Given the description of an element on the screen output the (x, y) to click on. 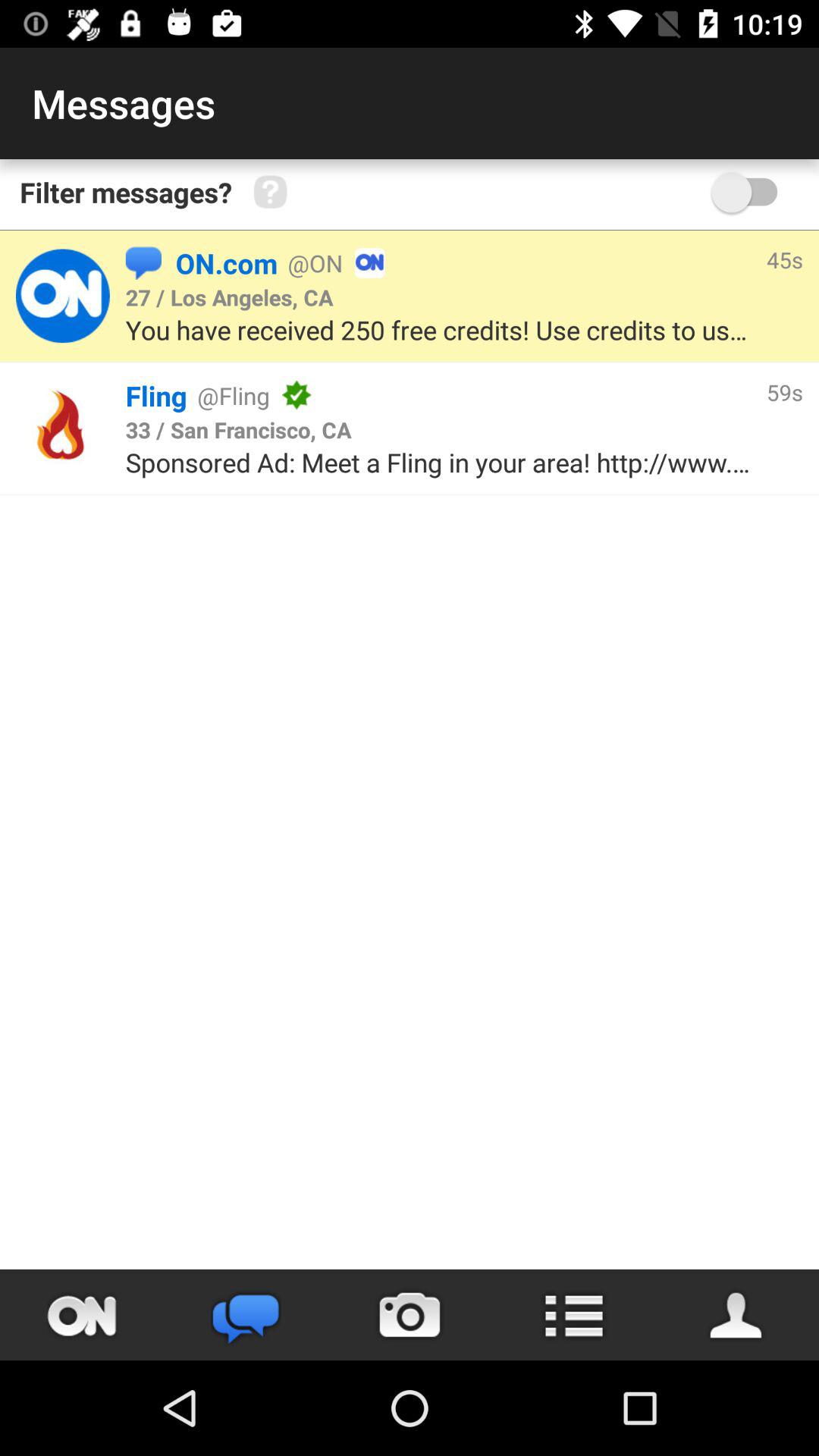
click the icon below the fling icon (238, 429)
